Given the description of an element on the screen output the (x, y) to click on. 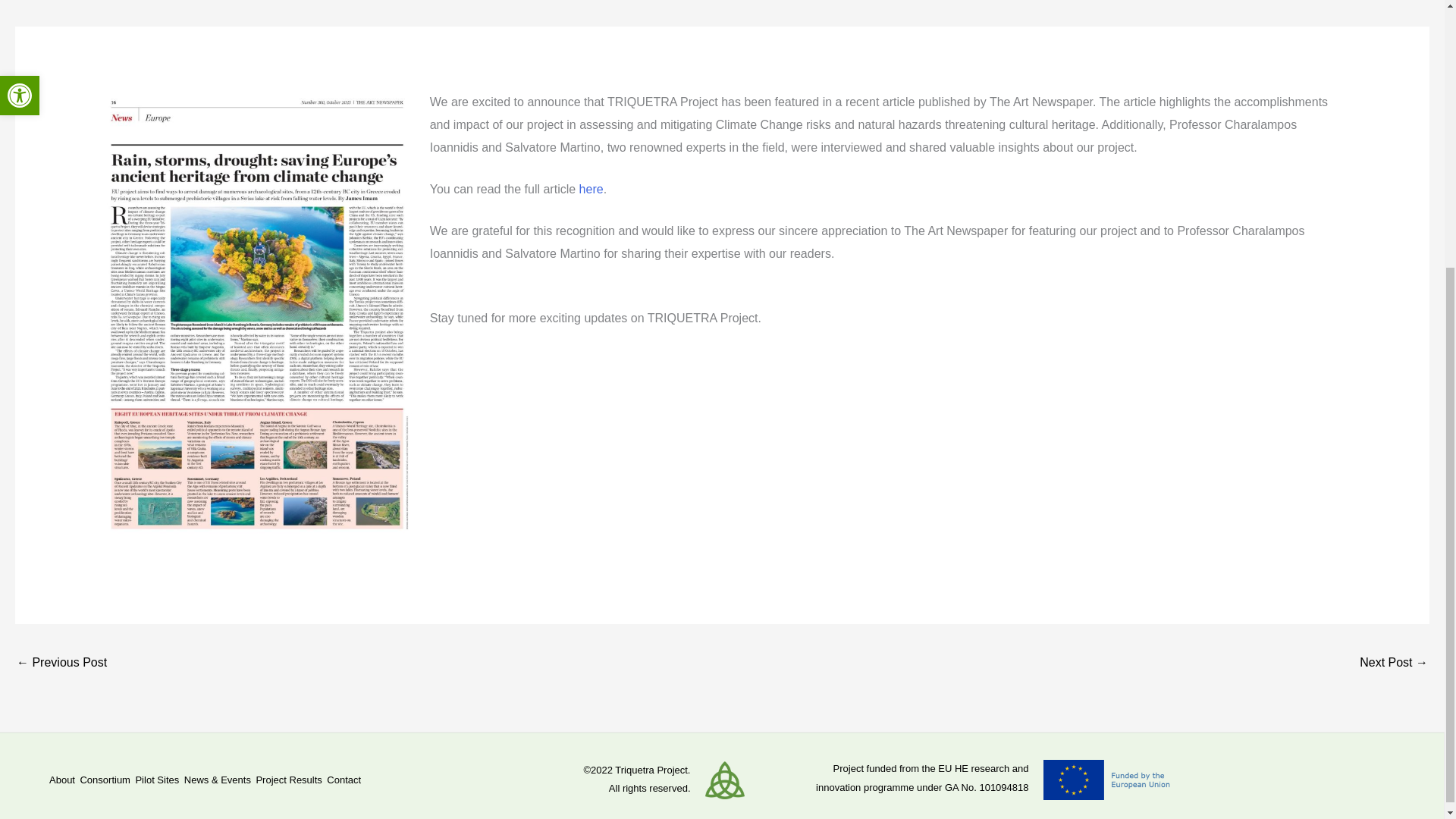
Pilot Sites (159, 780)
Consortium (107, 780)
here (591, 188)
About (64, 780)
TRIQUETRA in Green Cluster on Cultural Heritage (1393, 664)
